Given the description of an element on the screen output the (x, y) to click on. 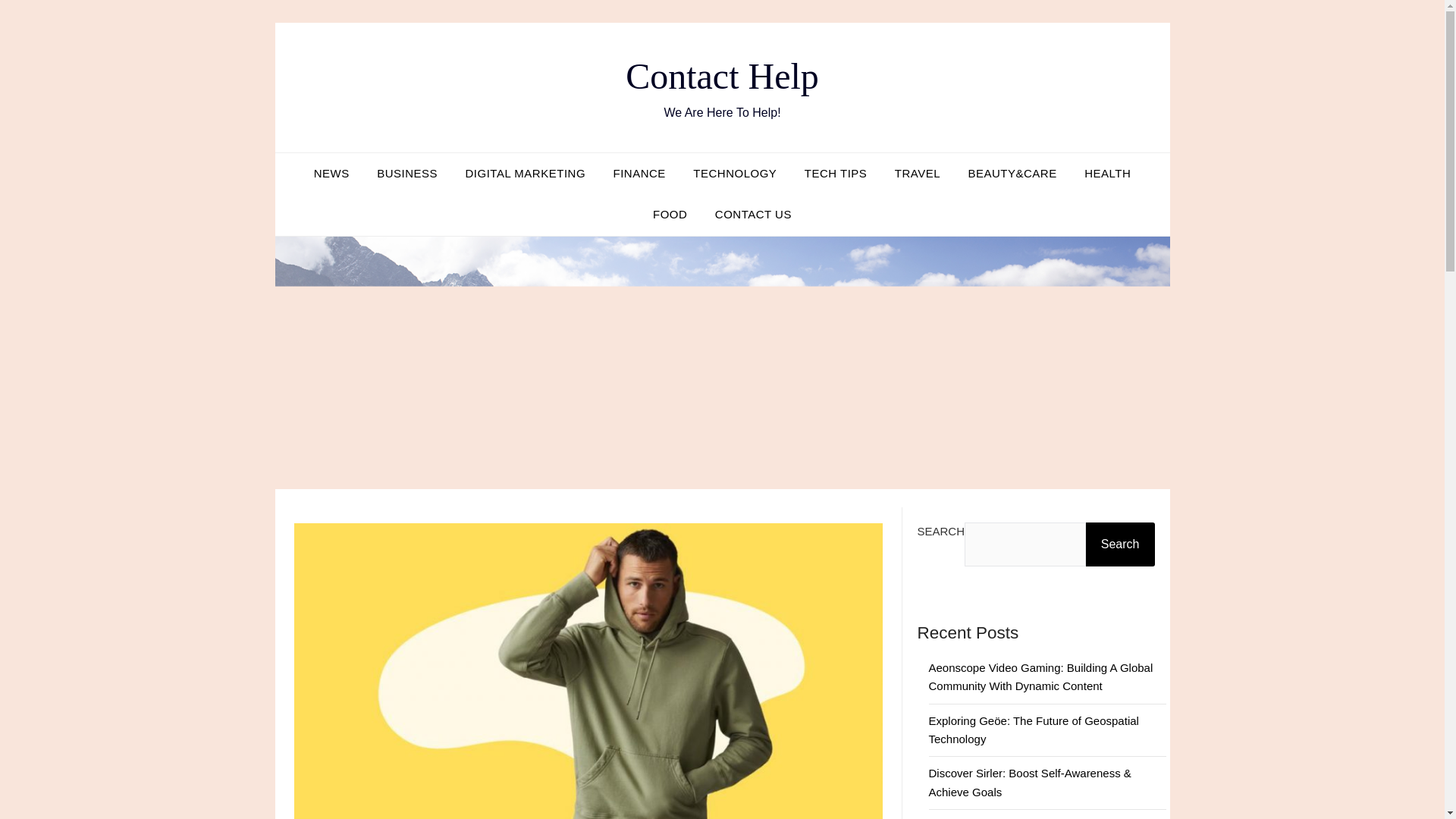
Contact Help (722, 76)
TRAVEL (917, 173)
HEALTH (1106, 173)
NEWS (331, 173)
Search (1120, 544)
BUSINESS (407, 173)
DIGITAL MARKETING (525, 173)
CONTACT US (753, 214)
FINANCE (638, 173)
